Given the description of an element on the screen output the (x, y) to click on. 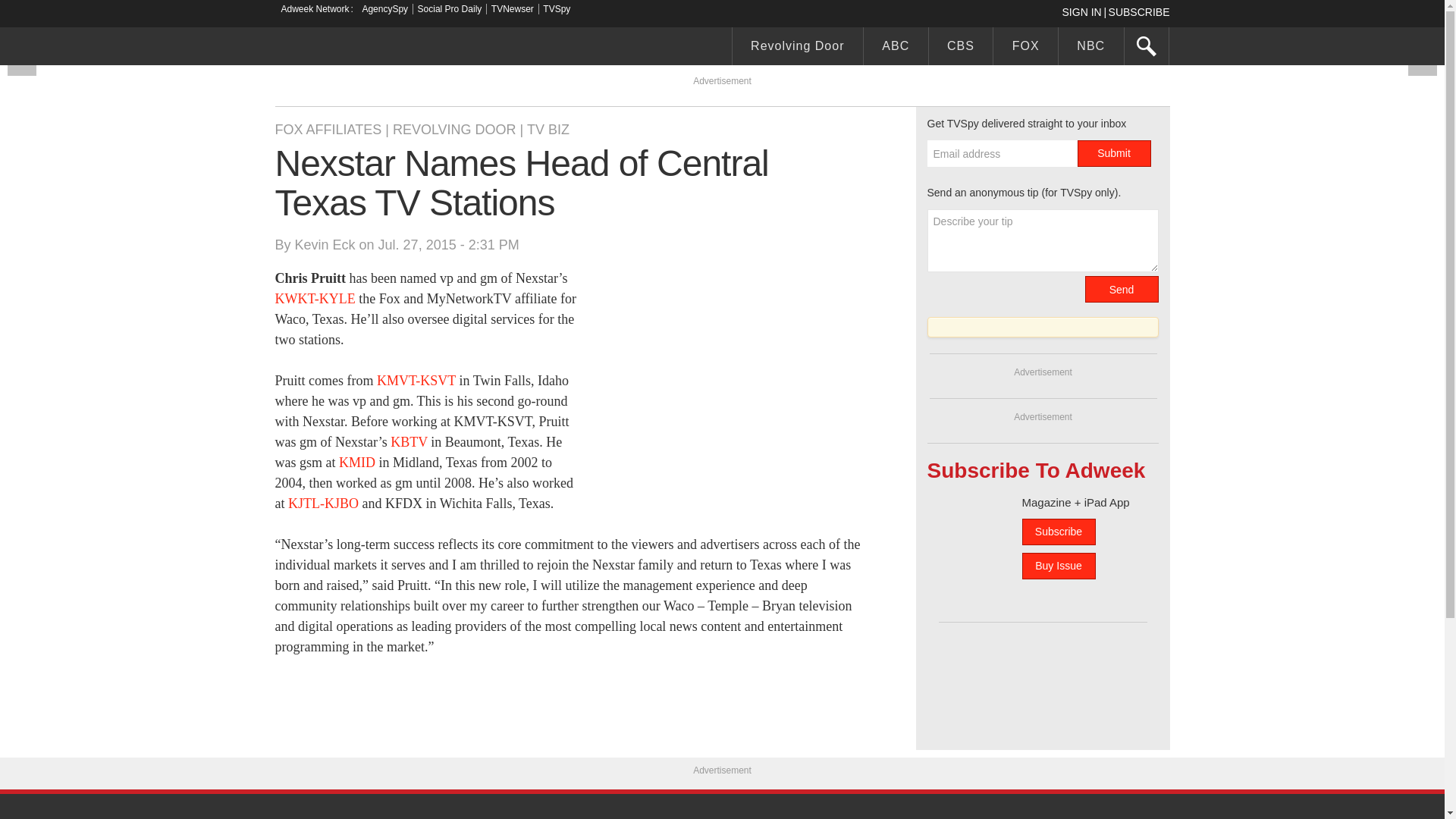
AgencySpy (384, 9)
Social Pro Daily (449, 9)
NBC (1091, 48)
Send (1120, 289)
ABC (895, 48)
TVNewser (513, 9)
SIGN IN (1084, 11)
Submit (1113, 153)
Covering local television news (388, 47)
TVSpy (556, 9)
